Given the description of an element on the screen output the (x, y) to click on. 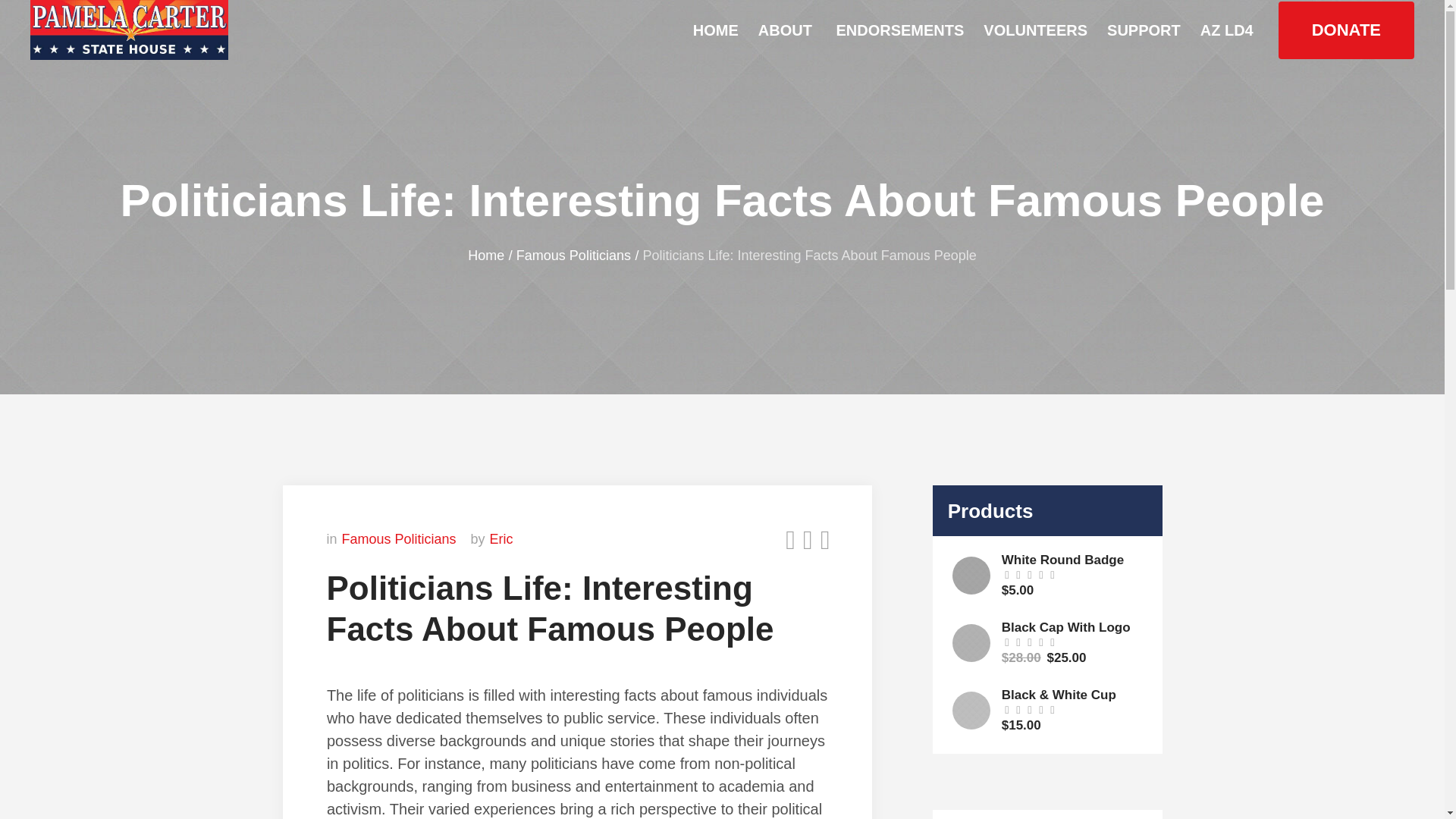
ABOUT (785, 29)
SUPPORT (1143, 29)
White Round Badge (1074, 560)
Rated 4.00 out of 5 (1029, 642)
Famous Politicians (399, 538)
Eric (501, 538)
Famous Politicians (573, 254)
Rated 0 out of 5 (1029, 709)
Black Cap With Logo (1074, 628)
DONATE (1345, 29)
